Given the description of an element on the screen output the (x, y) to click on. 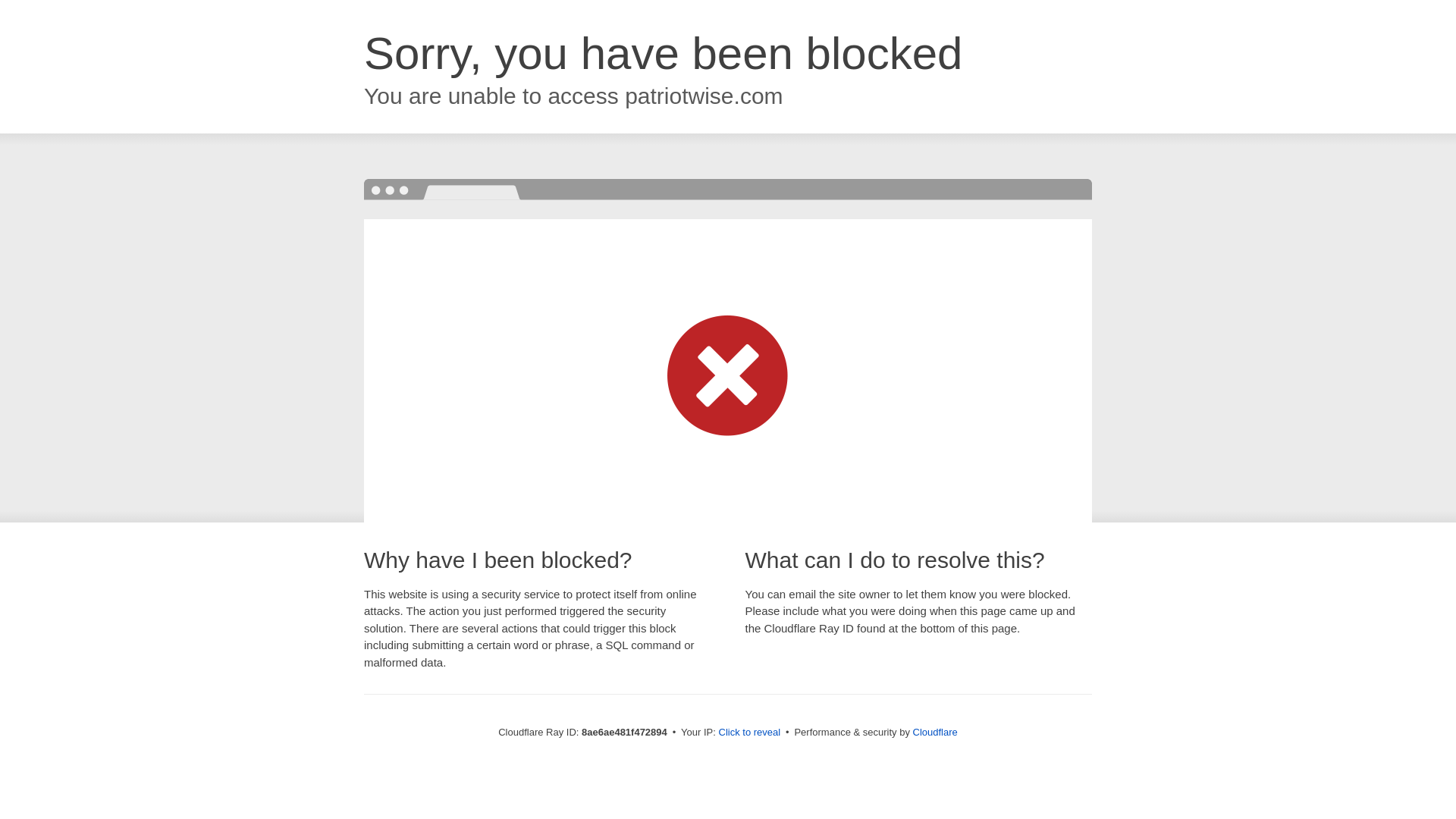
Cloudflare (935, 731)
Click to reveal (749, 732)
